Given the description of an element on the screen output the (x, y) to click on. 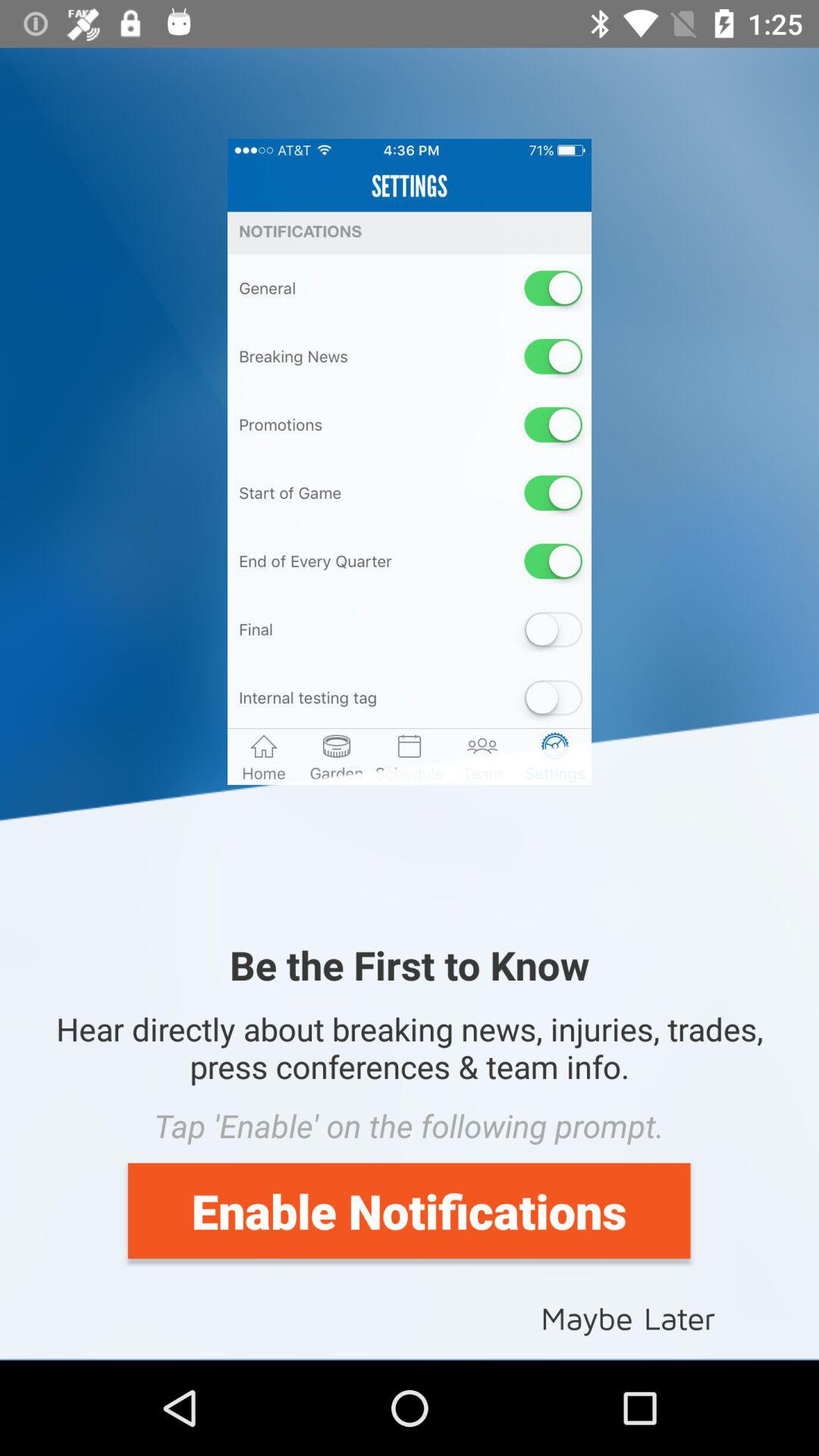
choose icon below the enable notifications item (627, 1317)
